Given the description of an element on the screen output the (x, y) to click on. 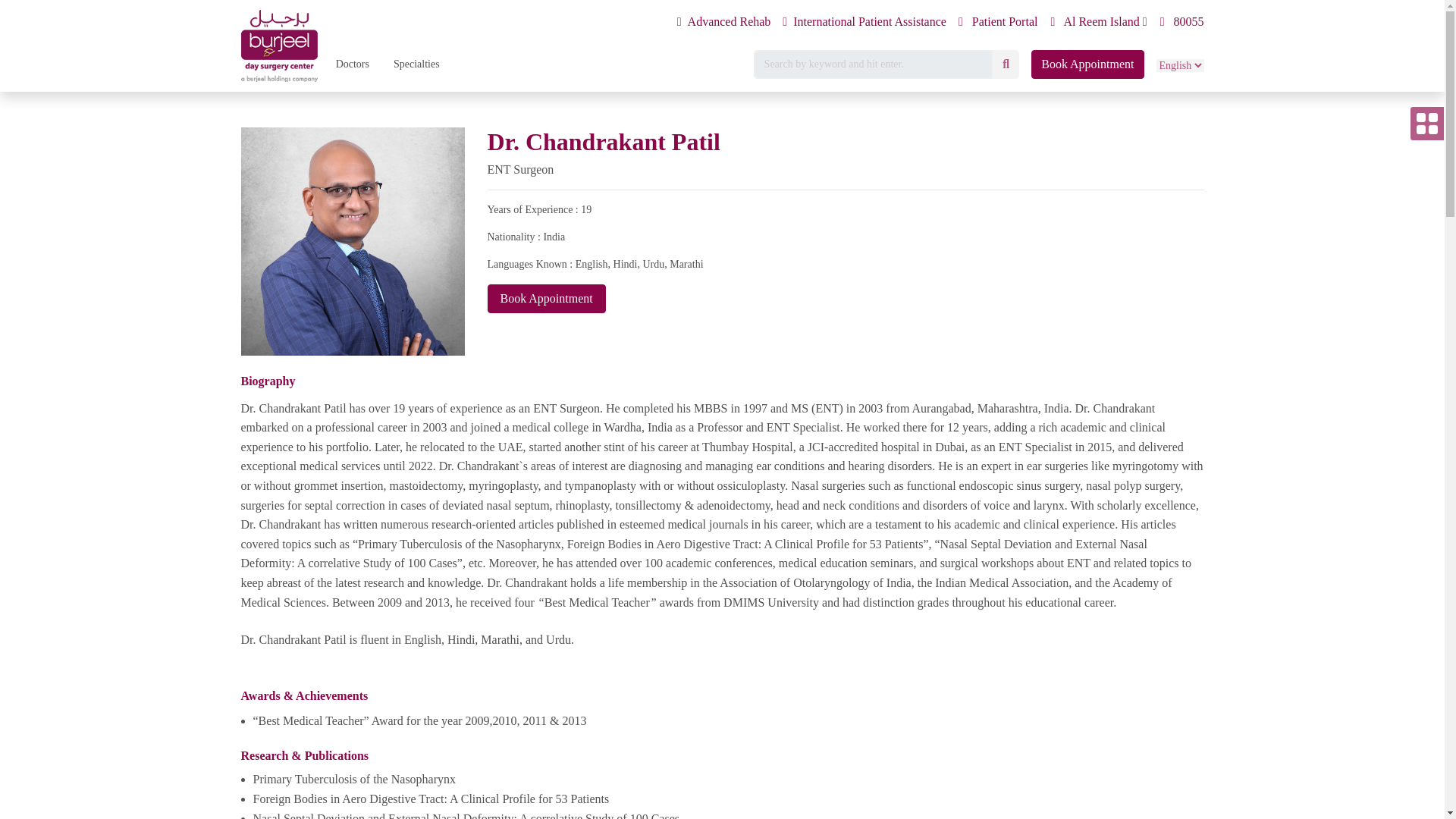
Patient Portal (998, 21)
Book Appointment (1086, 63)
80055 (1182, 21)
Book Appointment (545, 298)
Specialties (416, 63)
Al Reem Island (1098, 21)
Advanced Rehab (724, 21)
International Patient Assistance (864, 21)
Specialties (416, 63)
